Given the description of an element on the screen output the (x, y) to click on. 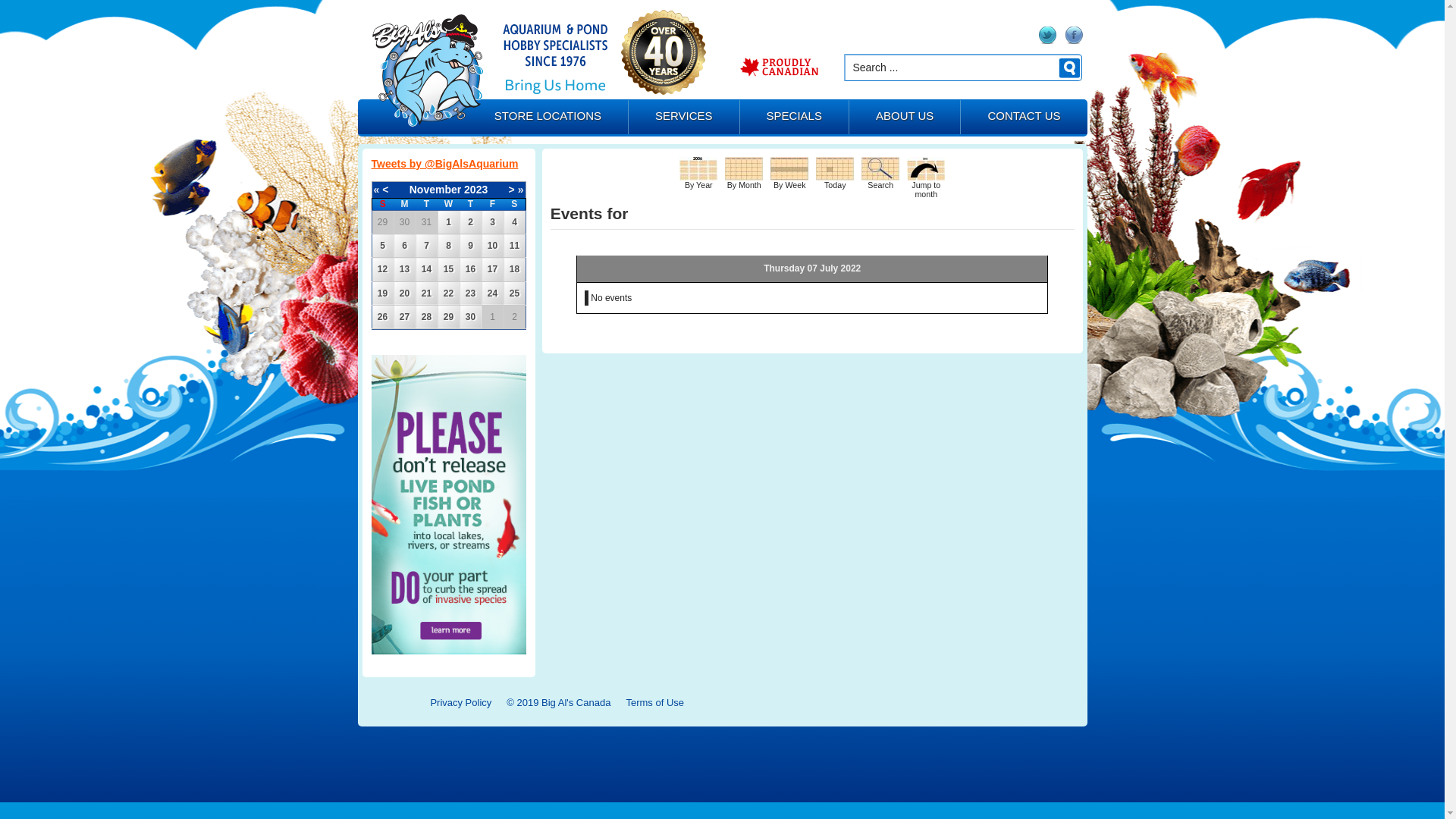
27 Element type: text (404, 316)
26 Element type: text (382, 316)
19 Element type: text (382, 293)
2 Element type: text (470, 221)
2023 Element type: text (475, 189)
13 Element type: text (404, 268)
By Year Element type: hover (698, 168)
STORE LOCATIONS Element type: text (547, 117)
20 Element type: text (404, 293)
November Element type: text (435, 189)
25 Element type: text (514, 293)
18 Element type: text (514, 268)
1 Element type: text (448, 221)
Jump to month Element type: hover (925, 168)
16 Element type: text (470, 268)
By Week Element type: hover (789, 168)
15 Element type: text (448, 268)
Today Element type: hover (834, 168)
29 Element type: text (448, 316)
Search Element type: hover (880, 168)
11 Element type: text (514, 245)
4 Element type: text (514, 221)
Terms of Use Element type: text (654, 702)
By Month Element type: hover (743, 168)
17 Element type: text (492, 268)
5 Element type: text (382, 245)
9 Element type: text (470, 245)
6 Element type: text (404, 245)
CONTACT US Element type: text (1023, 117)
30 Element type: text (470, 316)
8 Element type: text (448, 245)
Privacy Policy Element type: text (460, 702)
SERVICES Element type: text (683, 117)
21 Element type: text (426, 293)
12 Element type: text (382, 268)
28 Element type: text (426, 316)
7 Element type: text (426, 245)
22 Element type: text (448, 293)
14 Element type: text (426, 268)
3 Element type: text (492, 221)
ABOUT US Element type: text (904, 117)
Big Al's Canada Element type: hover (427, 70)
24 Element type: text (492, 293)
SPECIALS Element type: text (794, 117)
10 Element type: text (492, 245)
23 Element type: text (470, 293)
Tweets by @BigAlsAquarium Element type: text (444, 163)
